Given the description of an element on the screen output the (x, y) to click on. 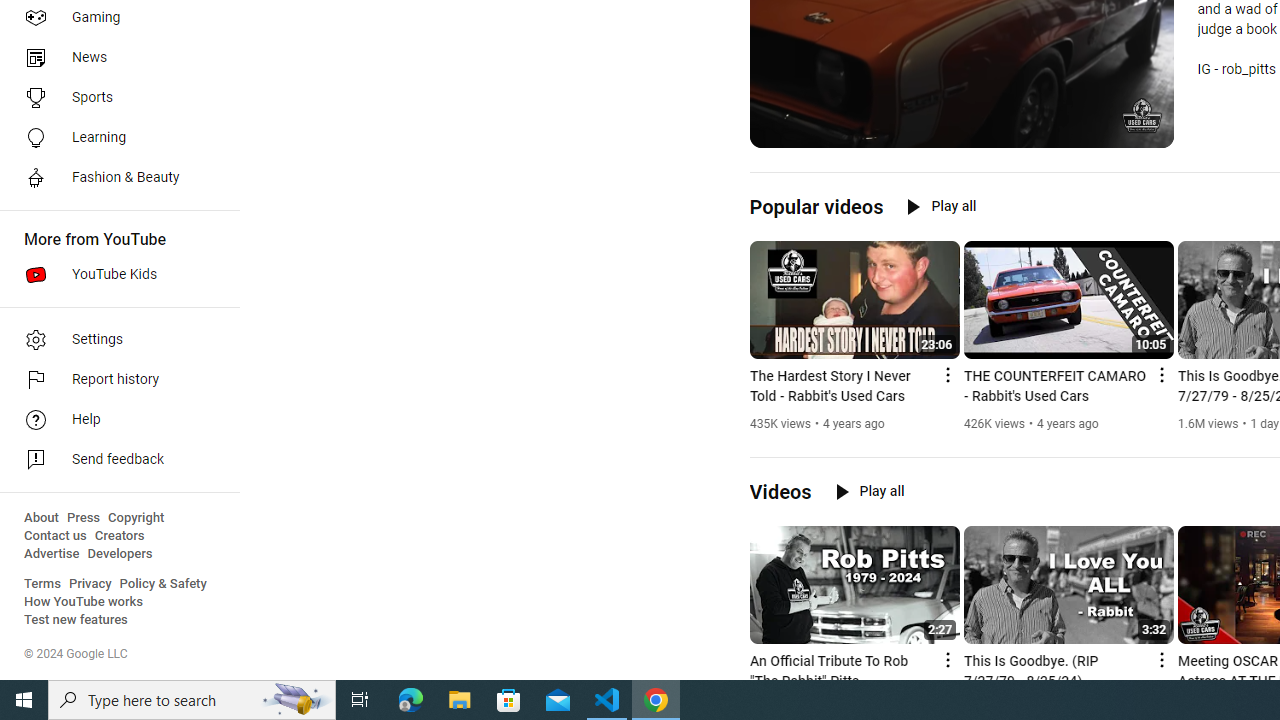
Popular videos (816, 206)
Play all (870, 491)
Advertise (51, 554)
Learning (113, 137)
Send feedback (113, 459)
Subtitles/closed captions unavailable (1071, 130)
Contact us (55, 536)
Privacy (89, 584)
Seek slider (961, 109)
Sports (113, 97)
About (41, 518)
Policy & Safety (163, 584)
Help (113, 419)
